Given the description of an element on the screen output the (x, y) to click on. 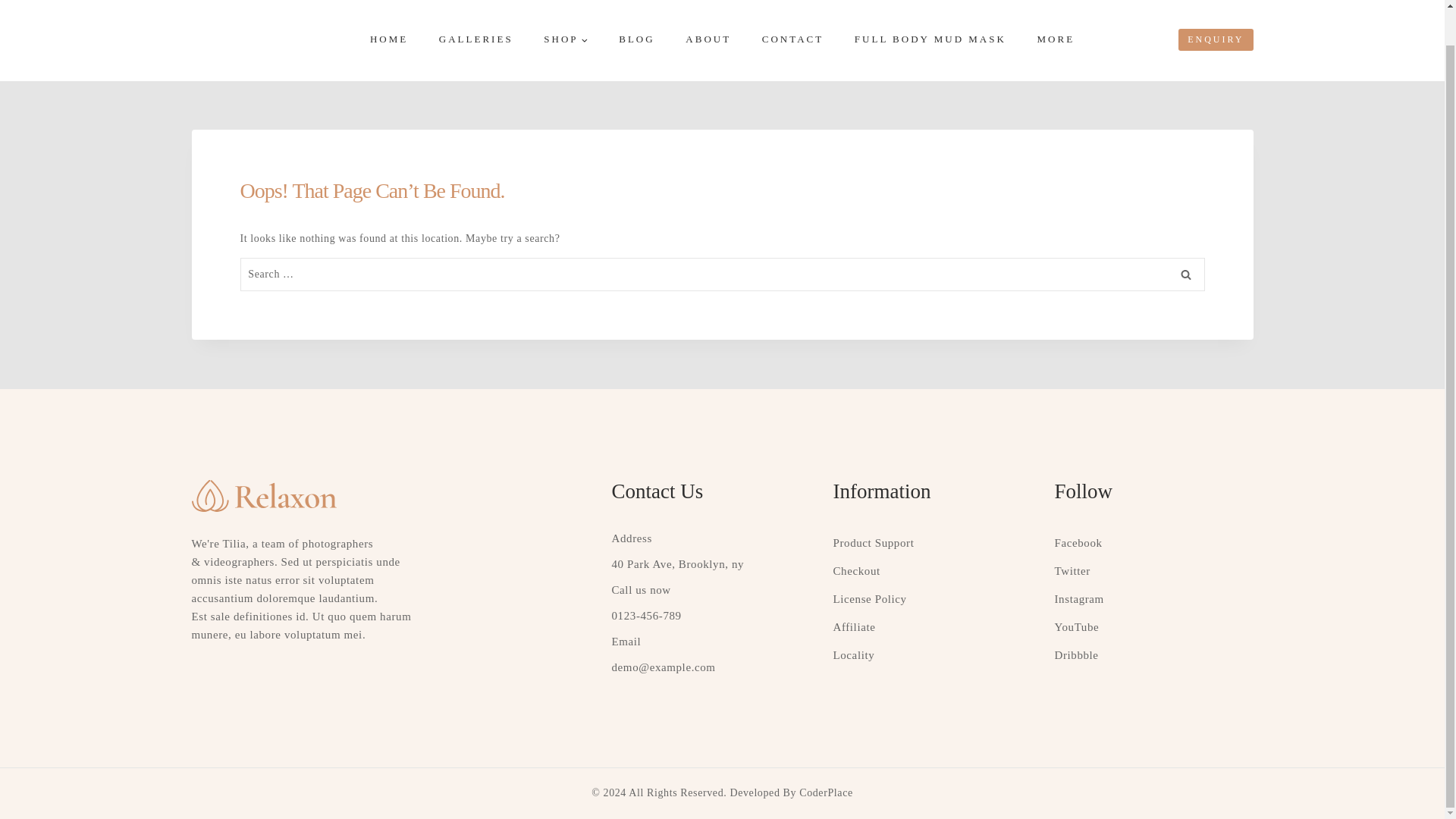
Checkout (855, 571)
ENQUIRY (1214, 39)
SHOP (566, 40)
GALLERIES (475, 40)
FULL BODY MUD MASK (930, 40)
Search (1185, 274)
Affiliate (853, 626)
ABOUT (707, 40)
Search (1185, 274)
CONTACT (791, 40)
